Given the description of an element on the screen output the (x, y) to click on. 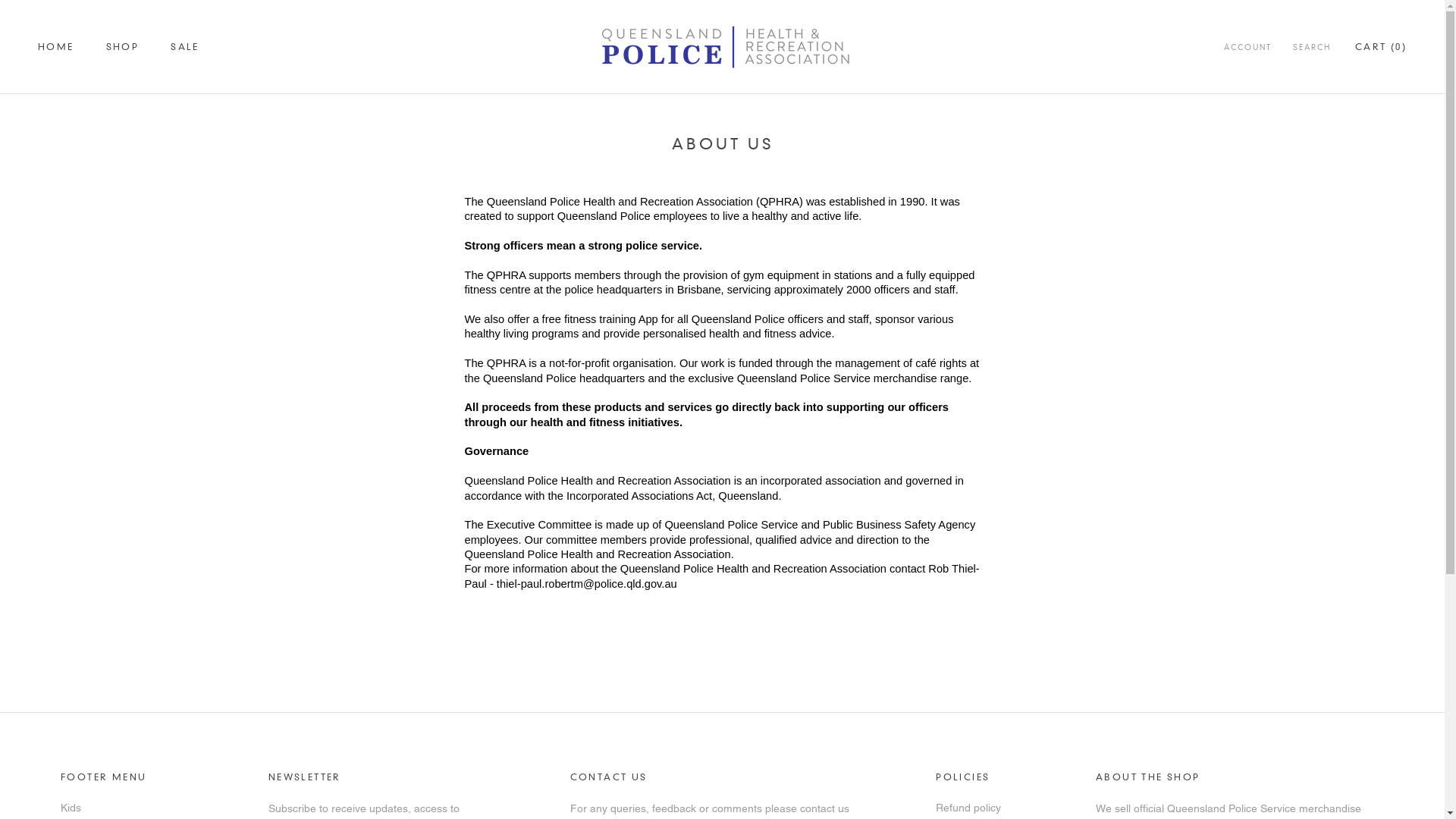
SEARCH Element type: text (1311, 47)
HOME
HOME Element type: text (55, 46)
ACCOUNT Element type: text (1247, 47)
Refund policy Element type: text (976, 807)
CART (0) Element type: text (1380, 46)
SHOP Element type: text (122, 46)
Kids Element type: text (125, 807)
SALE
SALE Element type: text (184, 46)
